Given the description of an element on the screen output the (x, y) to click on. 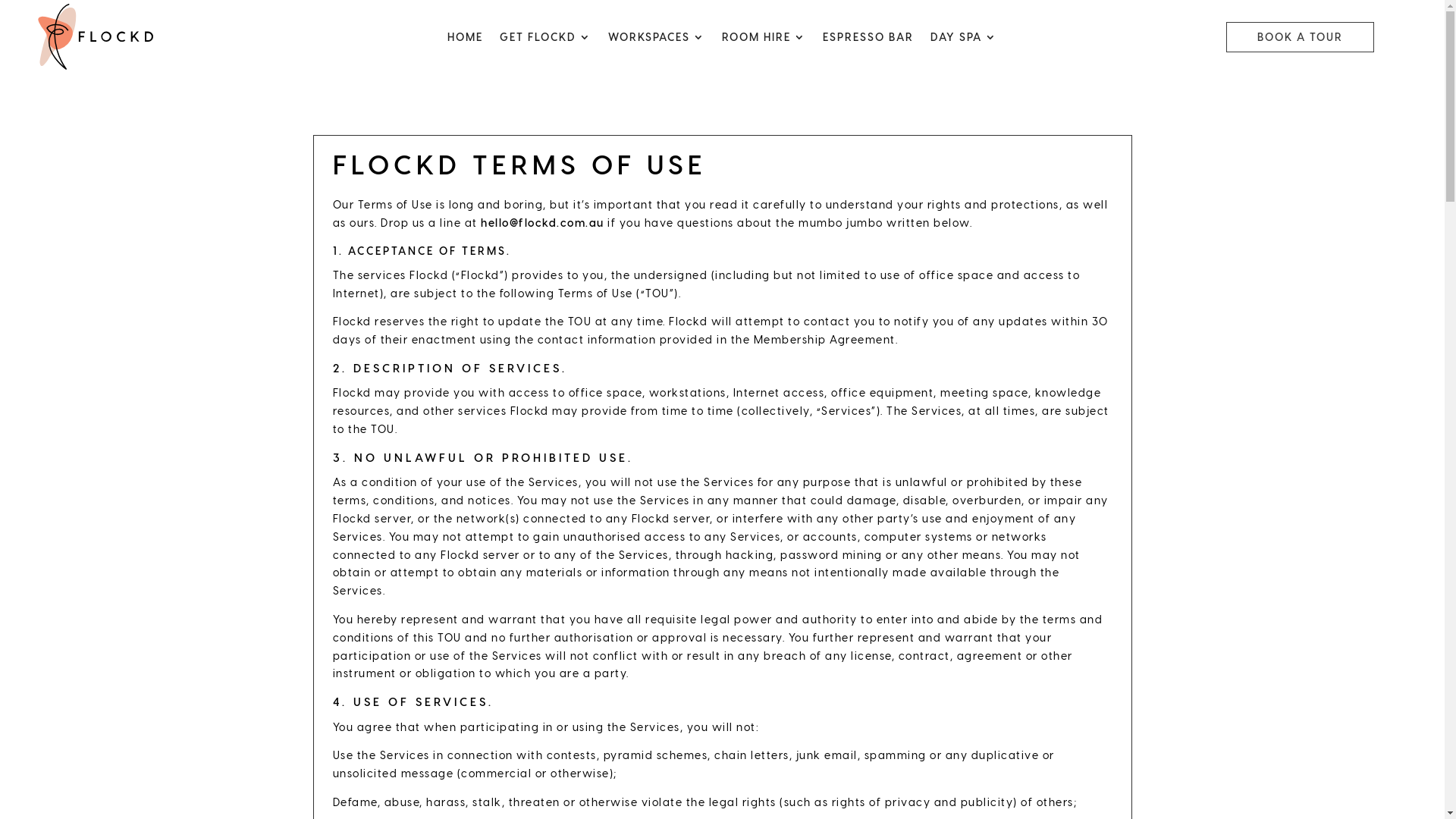
ROOM HIRE Element type: text (763, 39)
WORKSPACES Element type: text (656, 39)
ESPRESSO BAR Element type: text (867, 39)
DAY SPA Element type: text (963, 39)
GET FLOCKD Element type: text (545, 39)
Flockd_Logo_Web-01 Element type: hover (95, 36)
HOME Element type: text (465, 39)
BOOK A TOUR Element type: text (1300, 36)
hello@flockd.com.au Element type: text (542, 222)
